Given the description of an element on the screen output the (x, y) to click on. 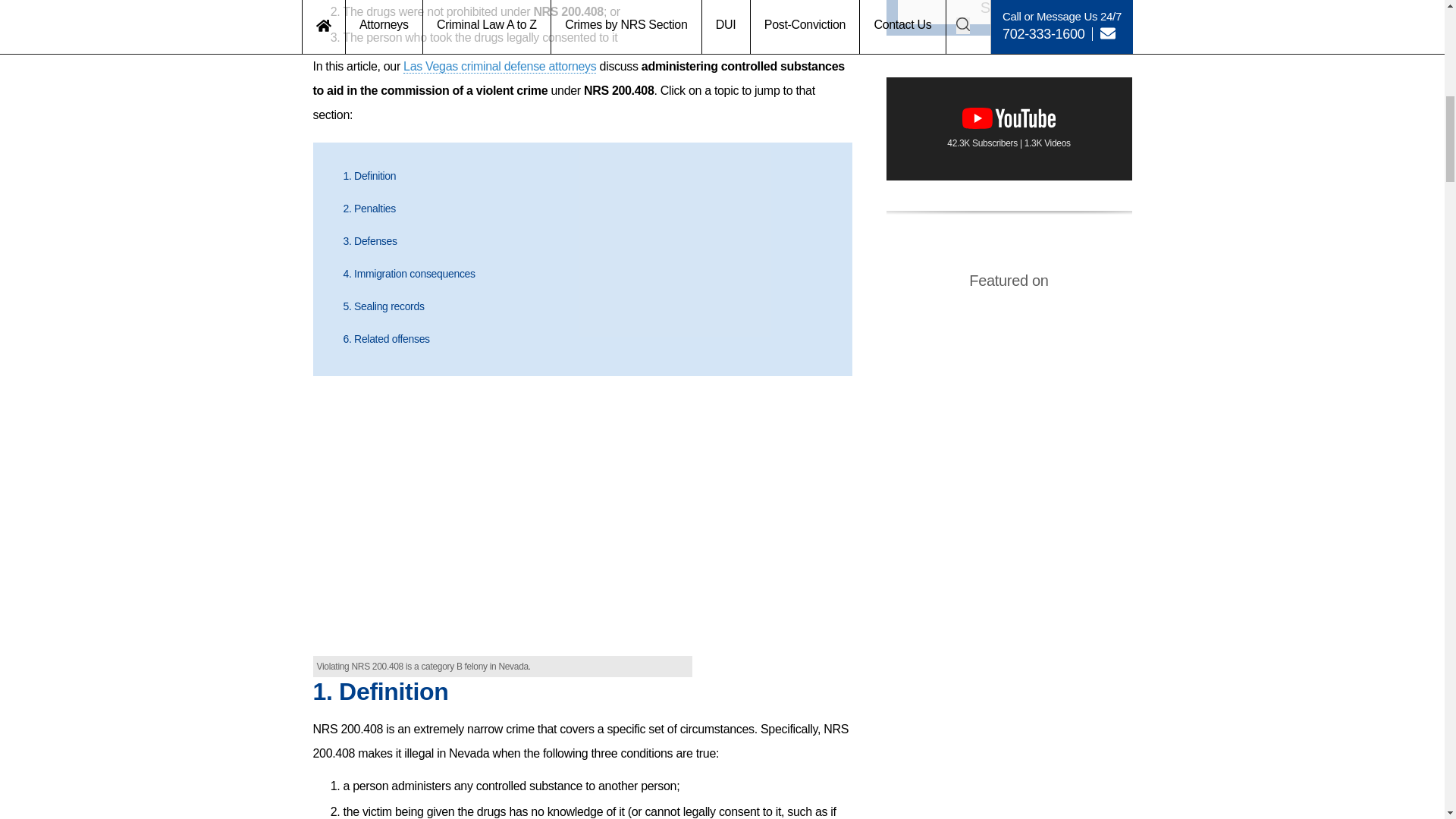
5. Sealing records (382, 306)
1. Definition (369, 175)
2. Penalties (368, 208)
Las Vegas criminal defense attorneys (499, 66)
4. Immigration consequences (408, 273)
6. Related offenses (385, 338)
3. Defenses (369, 241)
Submit (1009, 12)
